Given the description of an element on the screen output the (x, y) to click on. 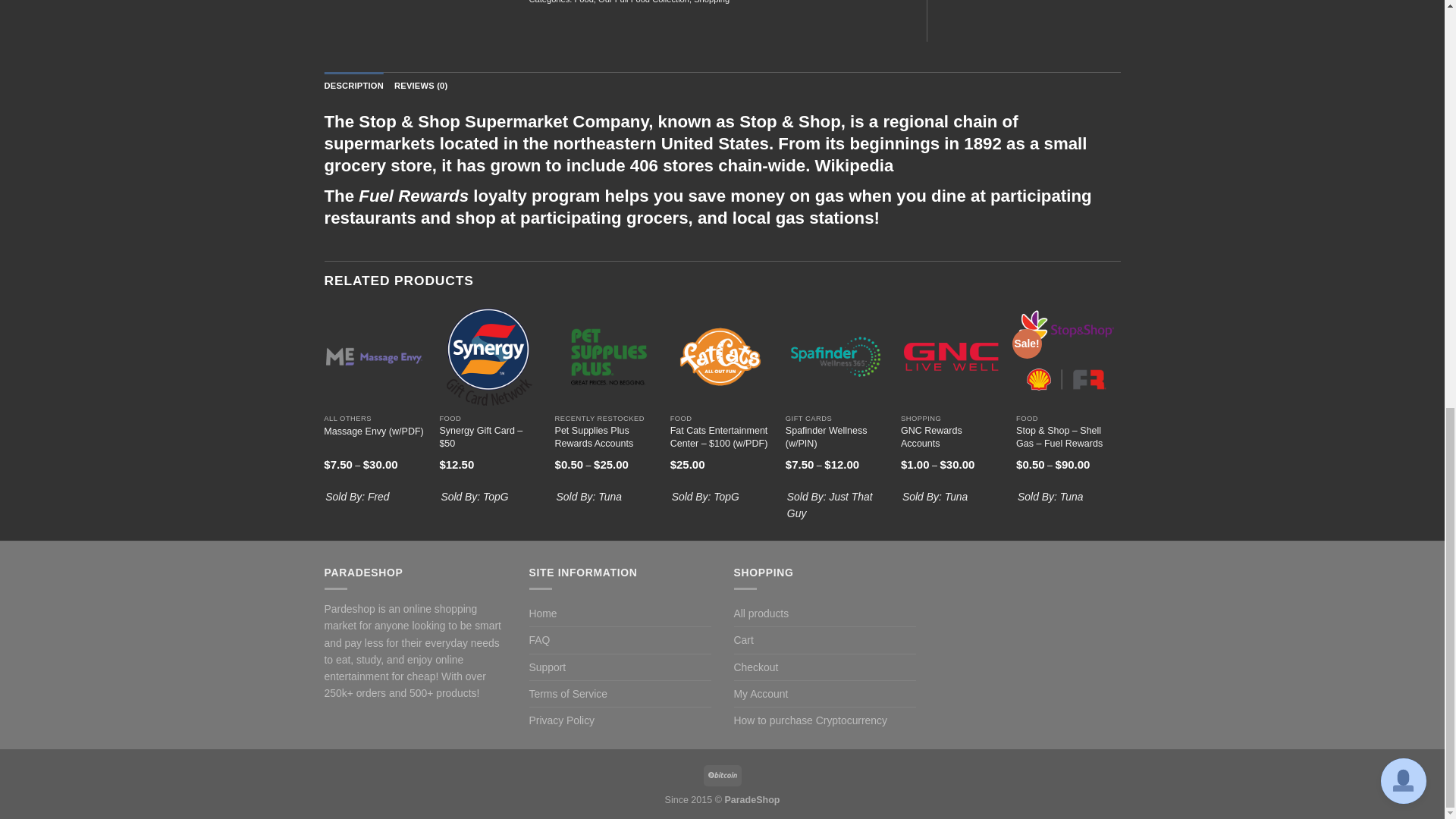
TopG (495, 496)
TopG (726, 496)
Tuna (1071, 496)
Tuna (956, 496)
Just That Guy (829, 504)
Fred (379, 496)
Tuna (609, 496)
